Given the description of an element on the screen output the (x, y) to click on. 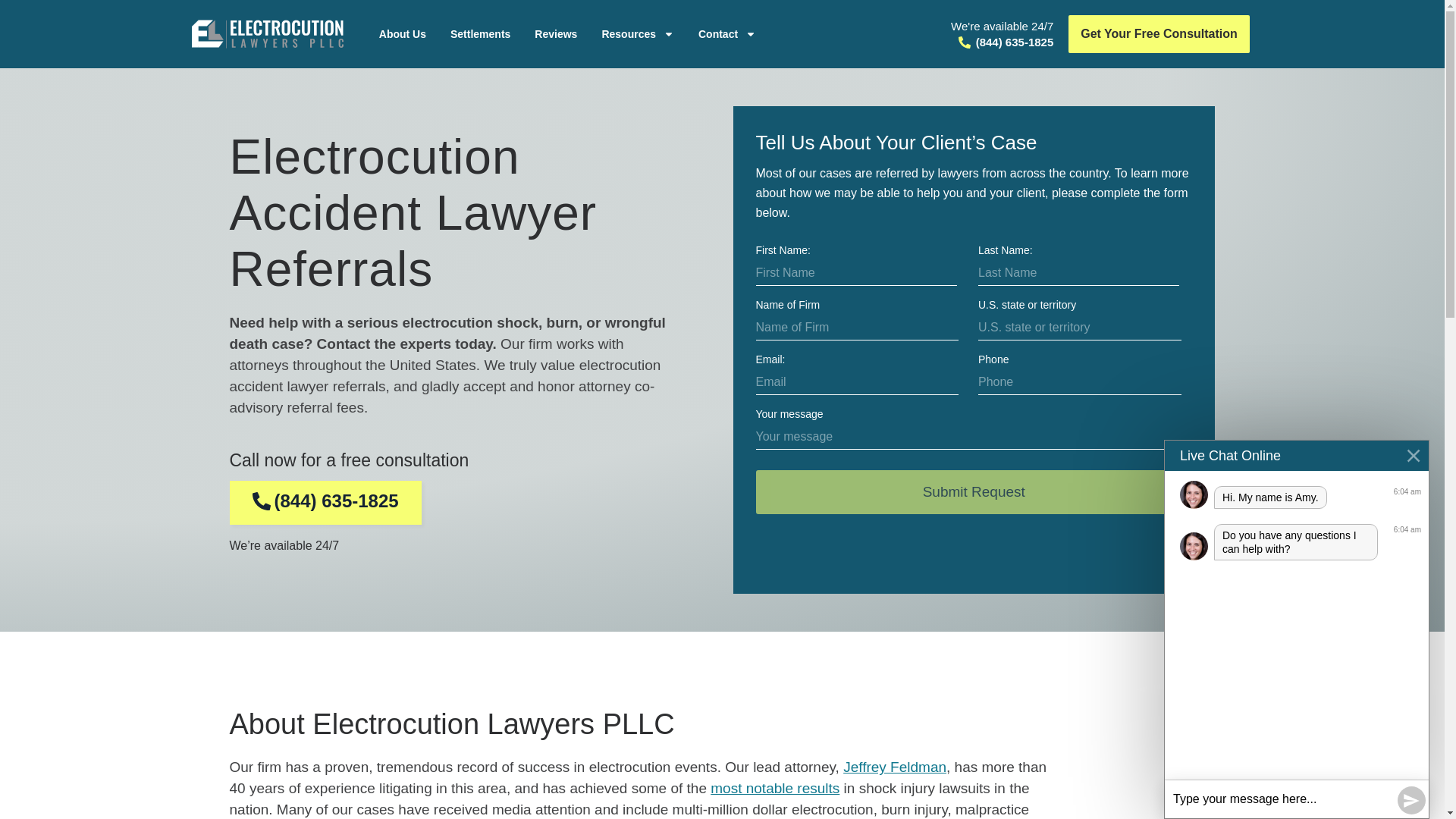
About Us (402, 33)
Contact (726, 33)
Resources (637, 33)
Reviews (555, 33)
Submit Request (973, 492)
Settlements (480, 33)
